Given the description of an element on the screen output the (x, y) to click on. 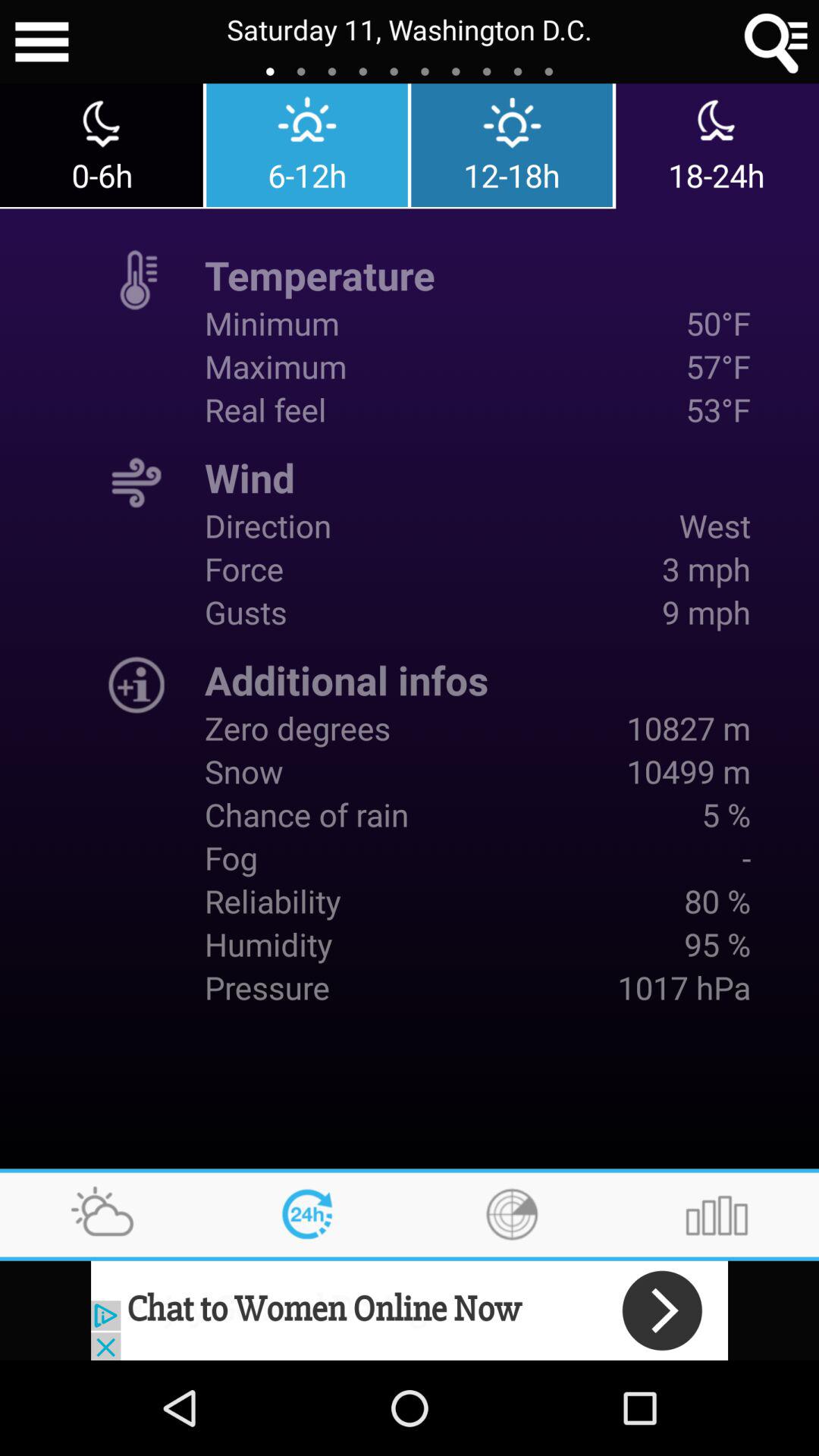
to search bar (777, 41)
